Given the description of an element on the screen output the (x, y) to click on. 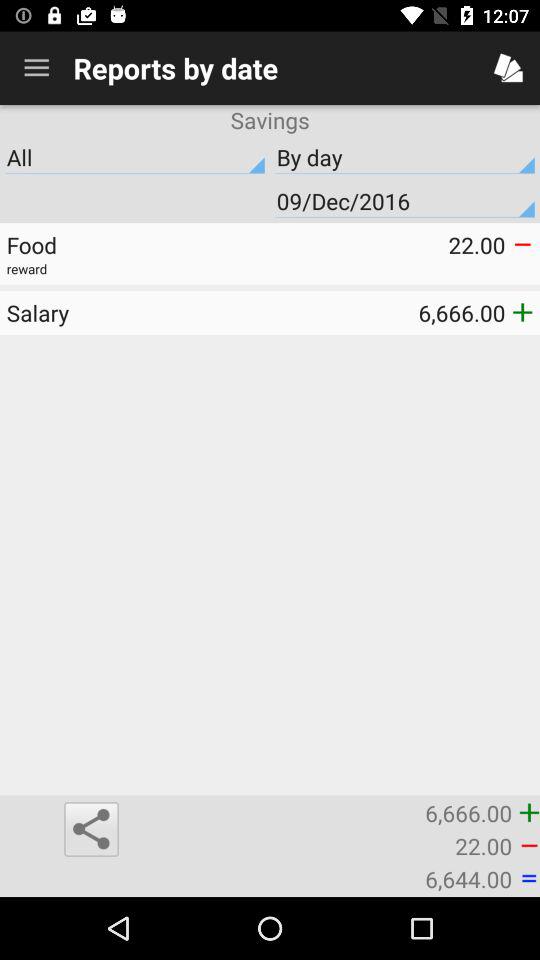
turn on the icon to the right of reports by date item (508, 67)
